Given the description of an element on the screen output the (x, y) to click on. 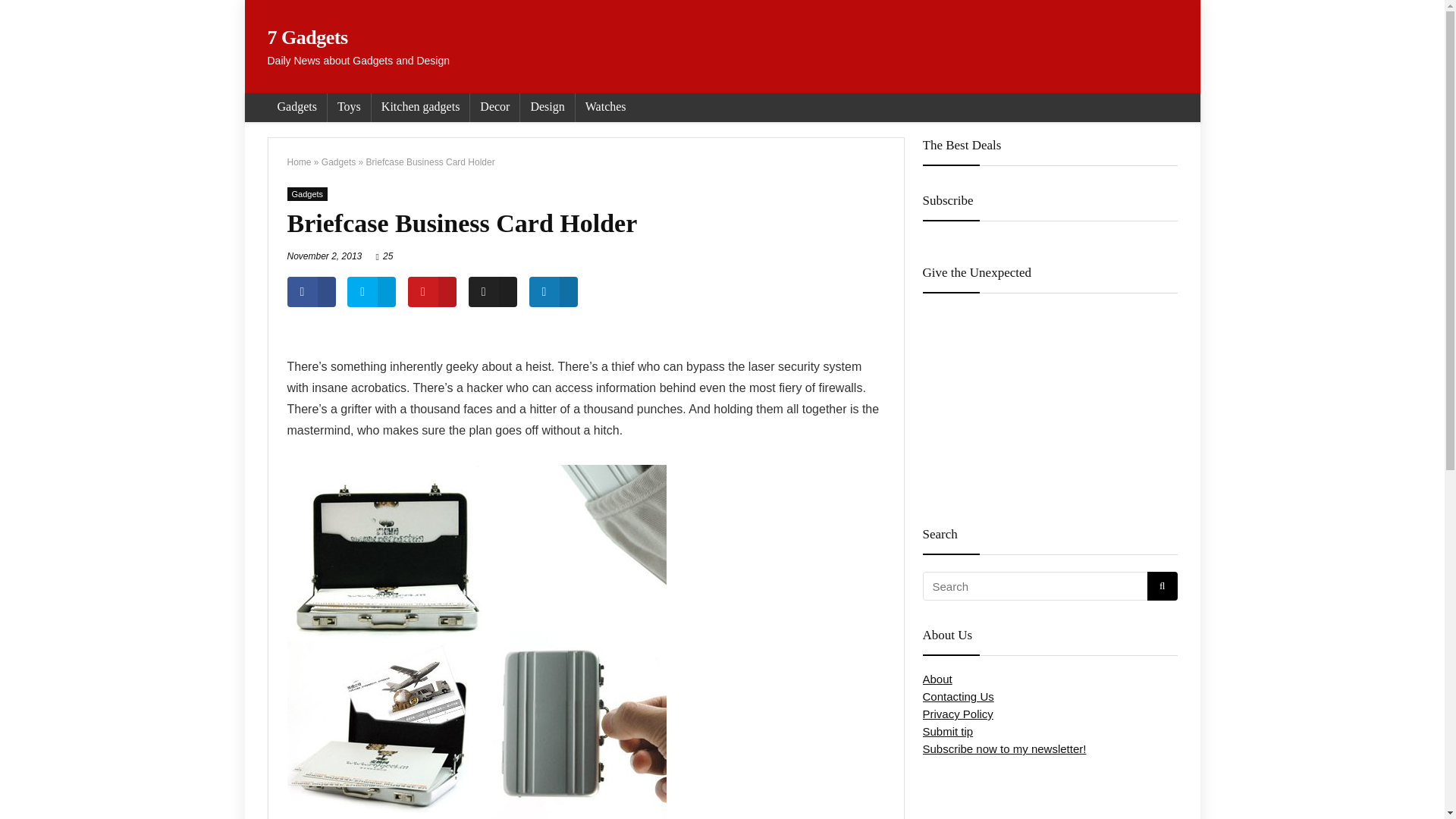
Toys (349, 107)
Home (298, 162)
Decor (494, 107)
Kitchen gadgets (420, 107)
Gadgets (296, 107)
Gadgets (338, 162)
Contacting Us (956, 696)
About (936, 678)
Watches (605, 107)
View all posts in Gadgets (306, 193)
